Given the description of an element on the screen output the (x, y) to click on. 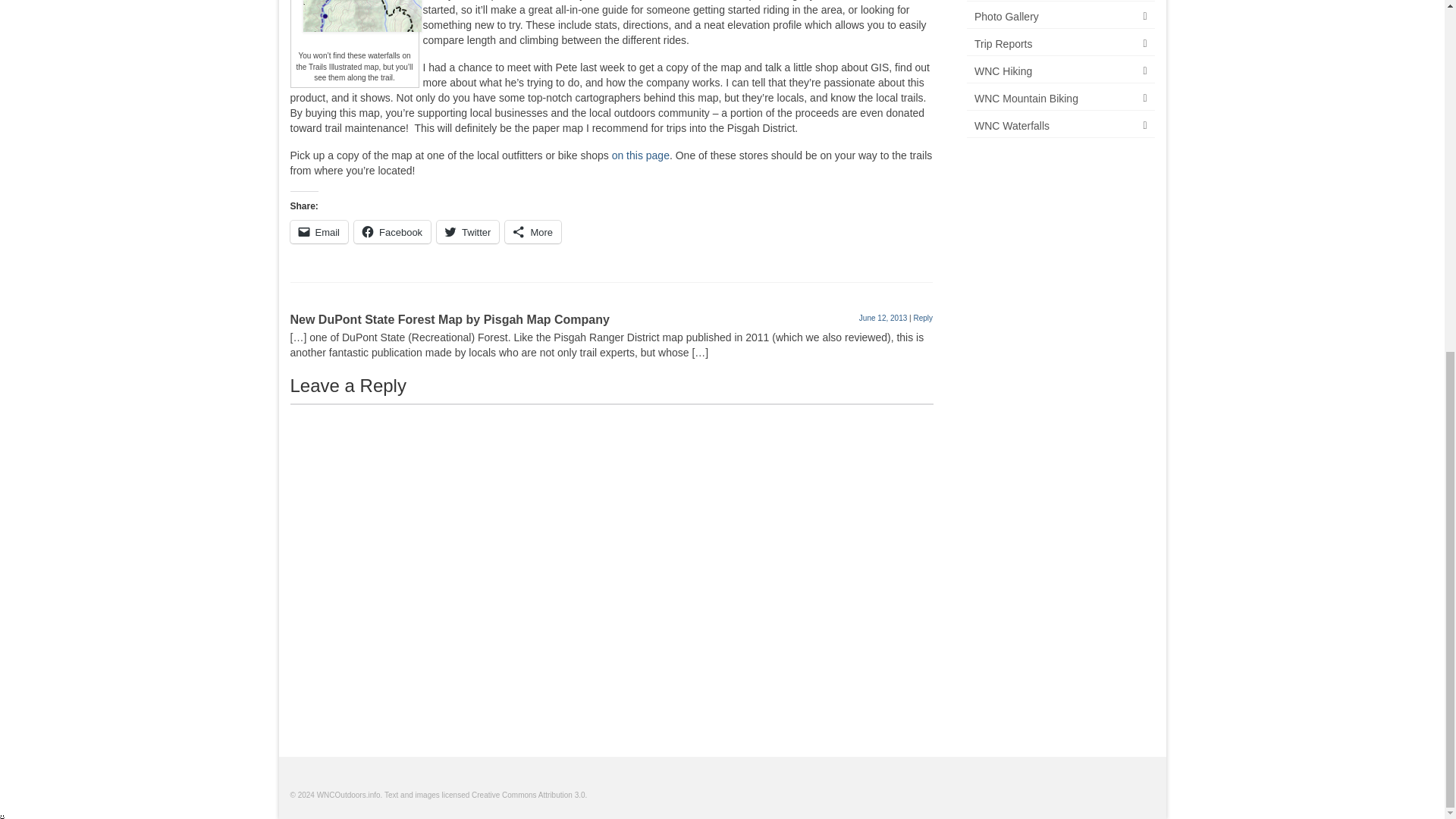
More (532, 231)
June 12, 2013 (883, 317)
New DuPont State Forest Map by Pisgah Map Company (448, 318)
Click to share on Facebook (391, 231)
on this page (640, 155)
Click to share on Twitter (467, 231)
Click to email a link to a friend (318, 231)
Facebook (391, 231)
Twitter (467, 231)
Email (318, 231)
